Given the description of an element on the screen output the (x, y) to click on. 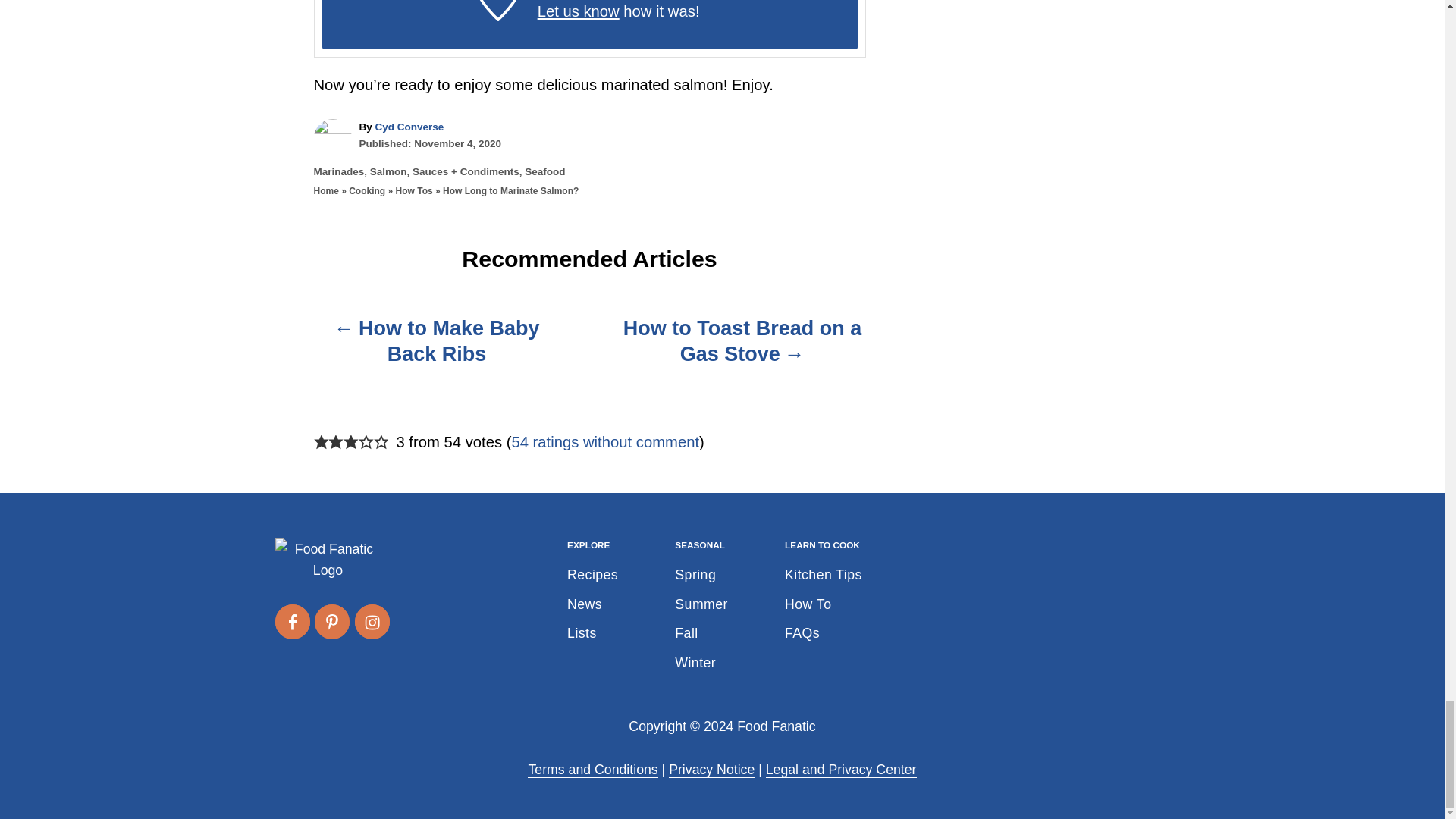
Follow on Facebook (291, 621)
Follow on Instagram (372, 621)
Follow on Pinterest (331, 621)
